Given the description of an element on the screen output the (x, y) to click on. 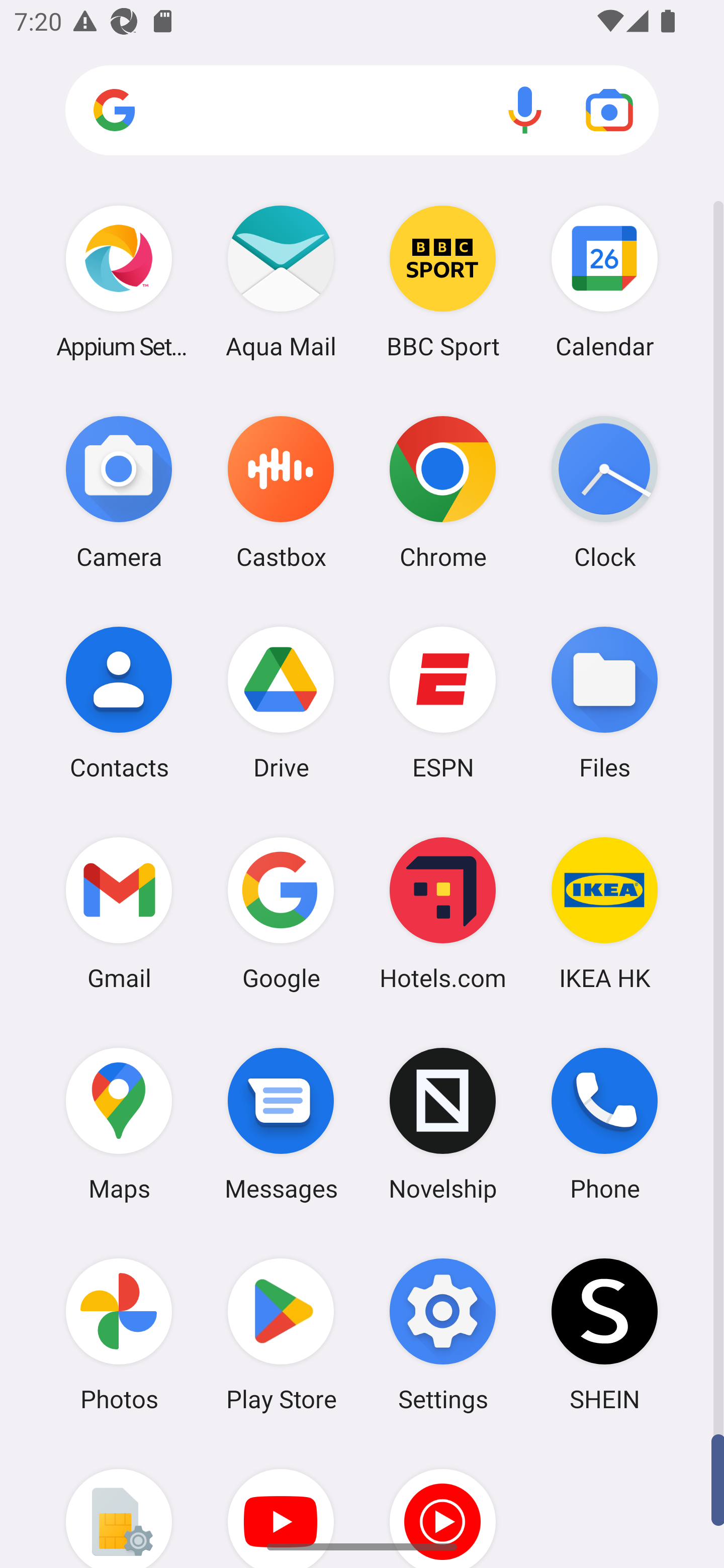
Search apps, web and more (361, 110)
Voice search (524, 109)
Google Lens (608, 109)
Appium Settings (118, 281)
Aqua Mail (280, 281)
BBC Sport (443, 281)
Calendar (604, 281)
Camera (118, 492)
Castbox (280, 492)
Chrome (443, 492)
Clock (604, 492)
Contacts (118, 702)
Drive (280, 702)
ESPN (443, 702)
Files (604, 702)
Gmail (118, 913)
Google (280, 913)
Hotels.com (443, 913)
IKEA HK (604, 913)
Maps (118, 1124)
Messages (280, 1124)
Novelship (443, 1124)
Phone (604, 1124)
Photos (118, 1334)
Play Store (280, 1334)
Settings (443, 1334)
SHEIN (604, 1334)
TMoble (118, 1503)
YouTube (280, 1503)
YT Music (443, 1503)
